Given the description of an element on the screen output the (x, y) to click on. 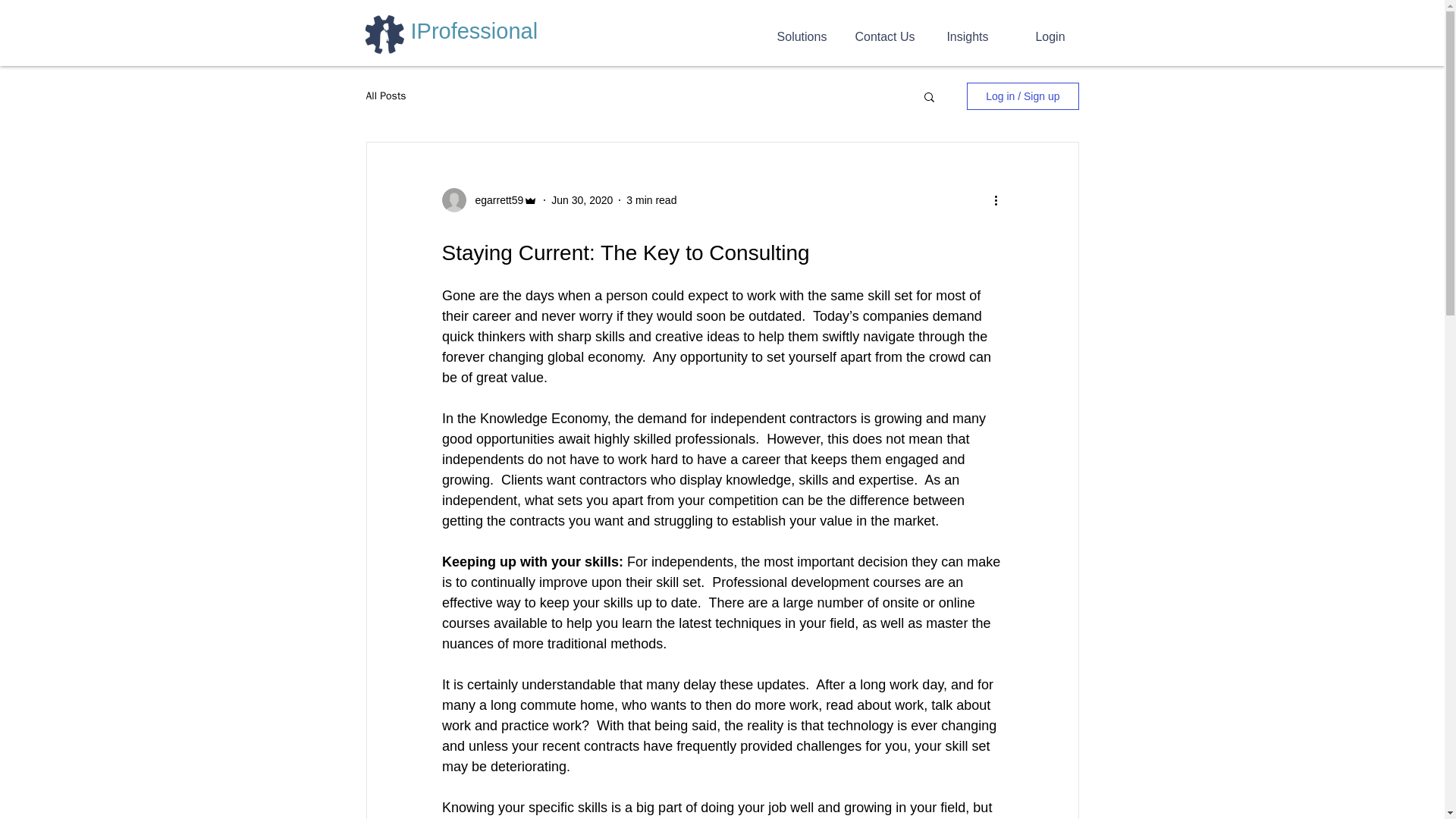
3 min read (651, 200)
Login (1049, 30)
Solutions (801, 30)
Contact Us (884, 30)
Insights (967, 30)
All Posts (385, 96)
egarrett59 (493, 200)
Jun 30, 2020 (581, 200)
